Given the description of an element on the screen output the (x, y) to click on. 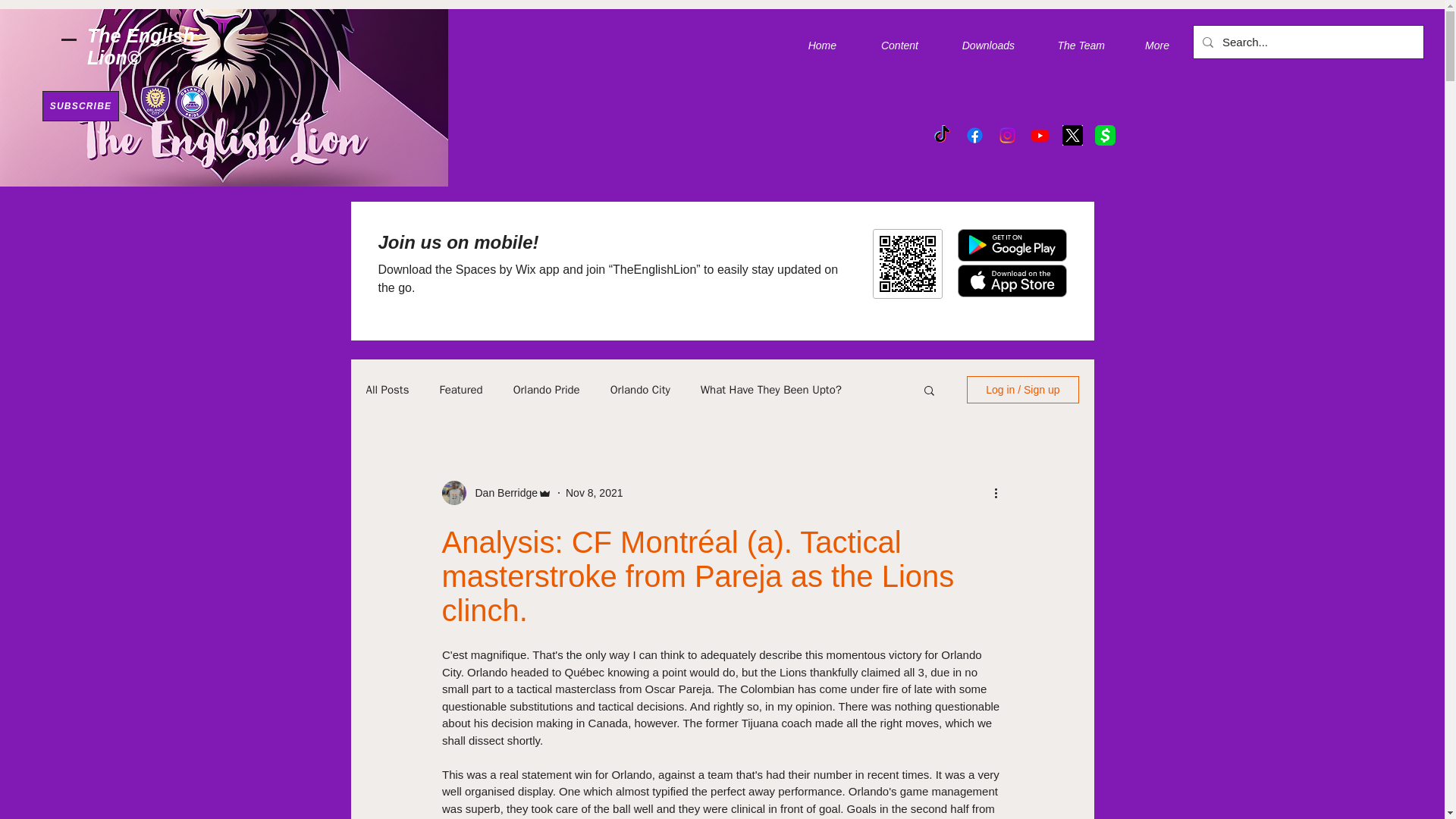
Orlando City (639, 389)
The Team (1071, 45)
Nov 8, 2021 (594, 492)
Home (812, 45)
SUBSCRIBE (80, 105)
Downloads (978, 45)
Dan Berridge (501, 493)
What Have They Been Upto? (770, 389)
All Posts (387, 389)
Orlando Pride (546, 389)
